Given the description of an element on the screen output the (x, y) to click on. 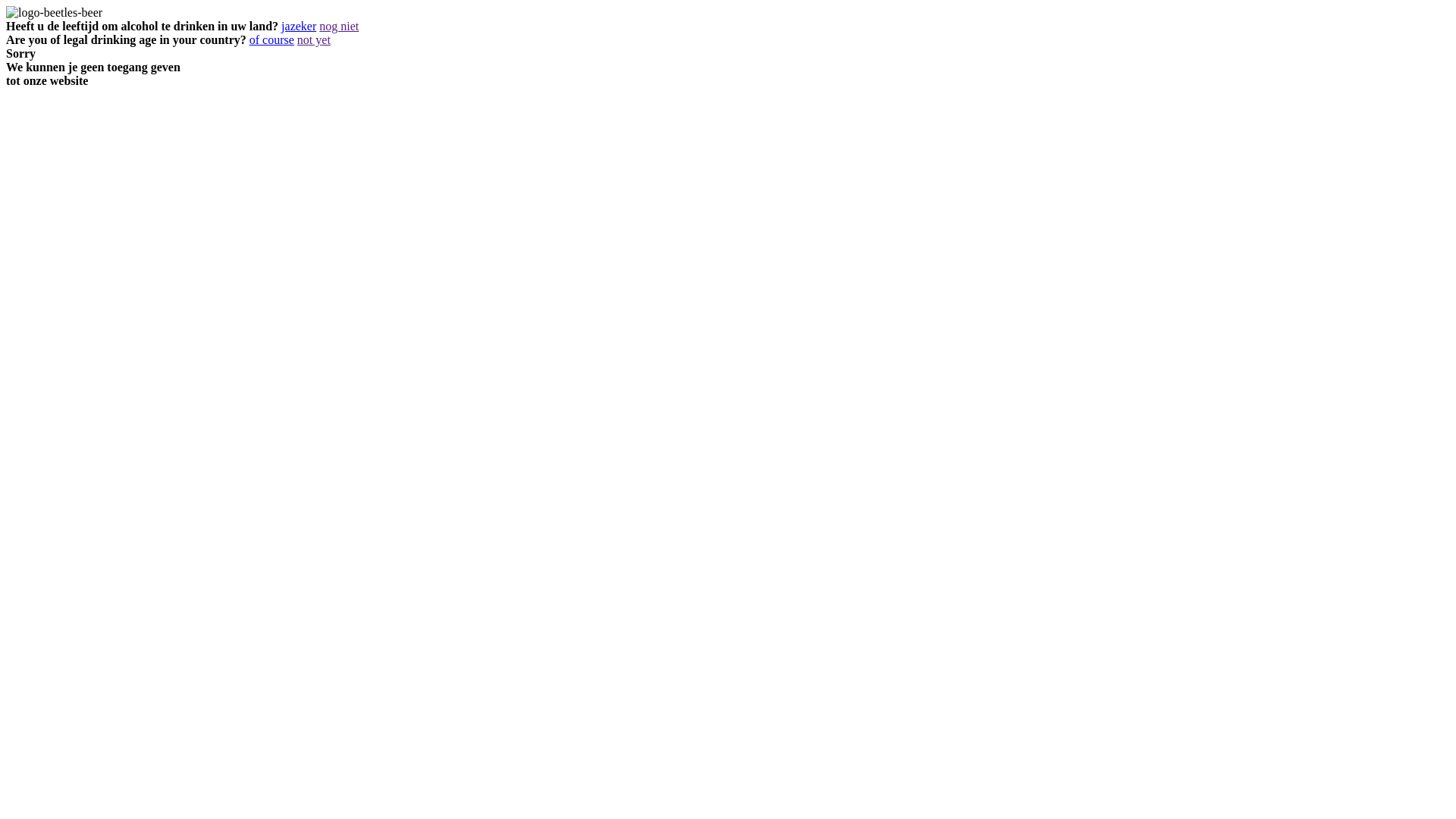
jazeker Element type: text (298, 25)
not yet Element type: text (313, 39)
logo-beetles-beer Element type: hover (54, 12)
nog niet Element type: text (338, 25)
of course Element type: text (271, 39)
